Given the description of an element on the screen output the (x, y) to click on. 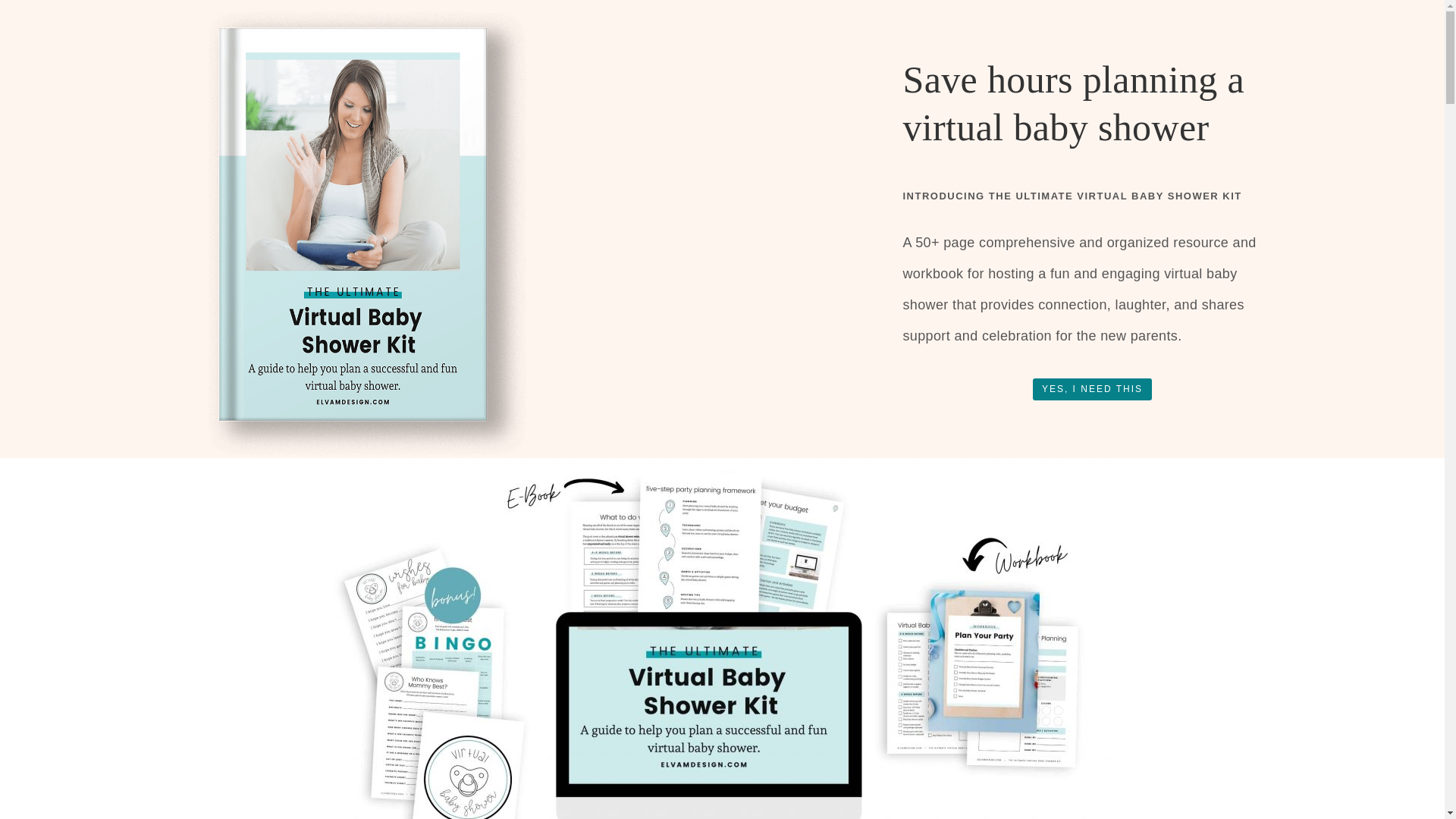
YES, I NEED THIS (1091, 389)
